Given the description of an element on the screen output the (x, y) to click on. 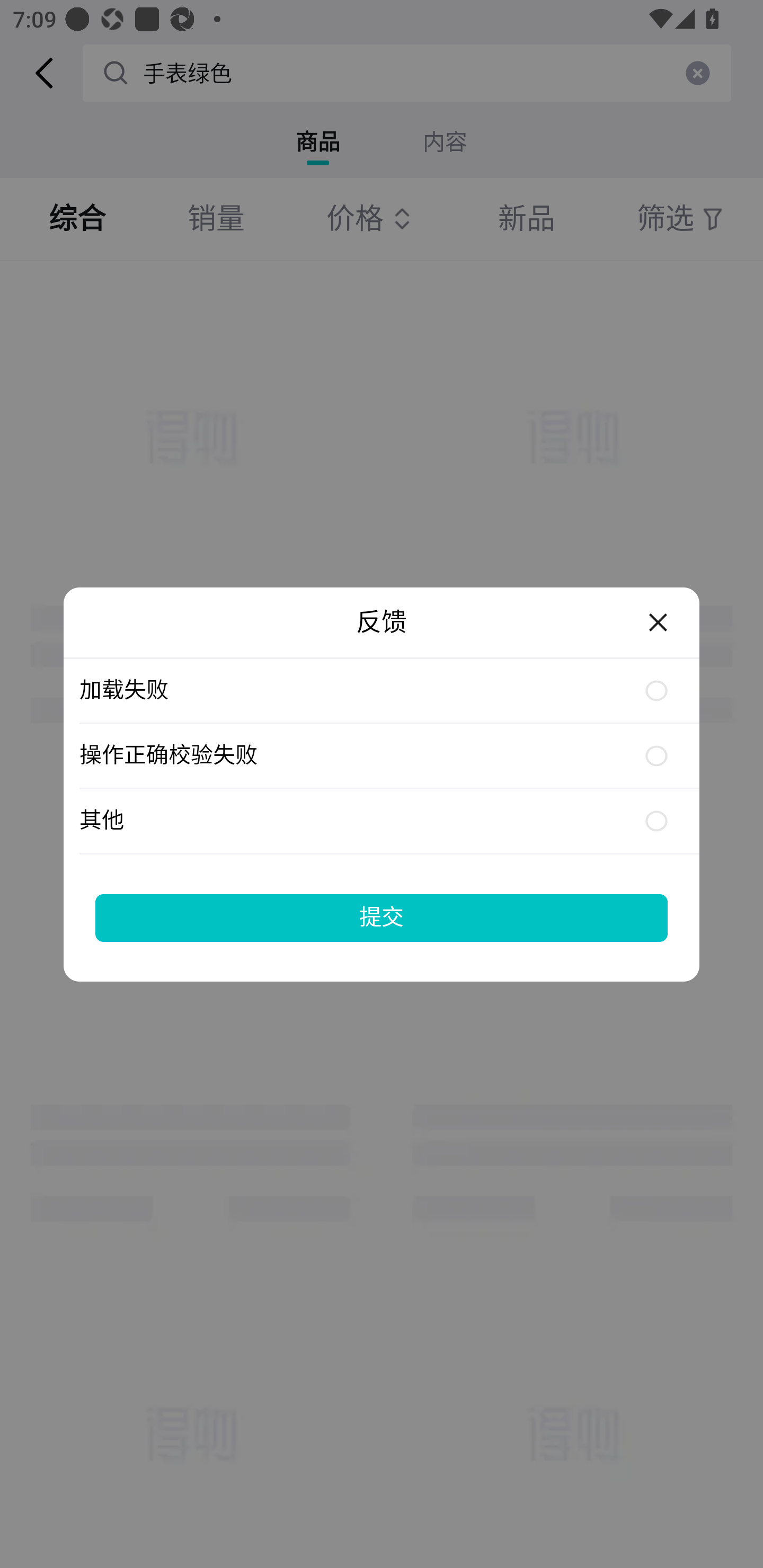
提交 (381, 917)
